Given the description of an element on the screen output the (x, y) to click on. 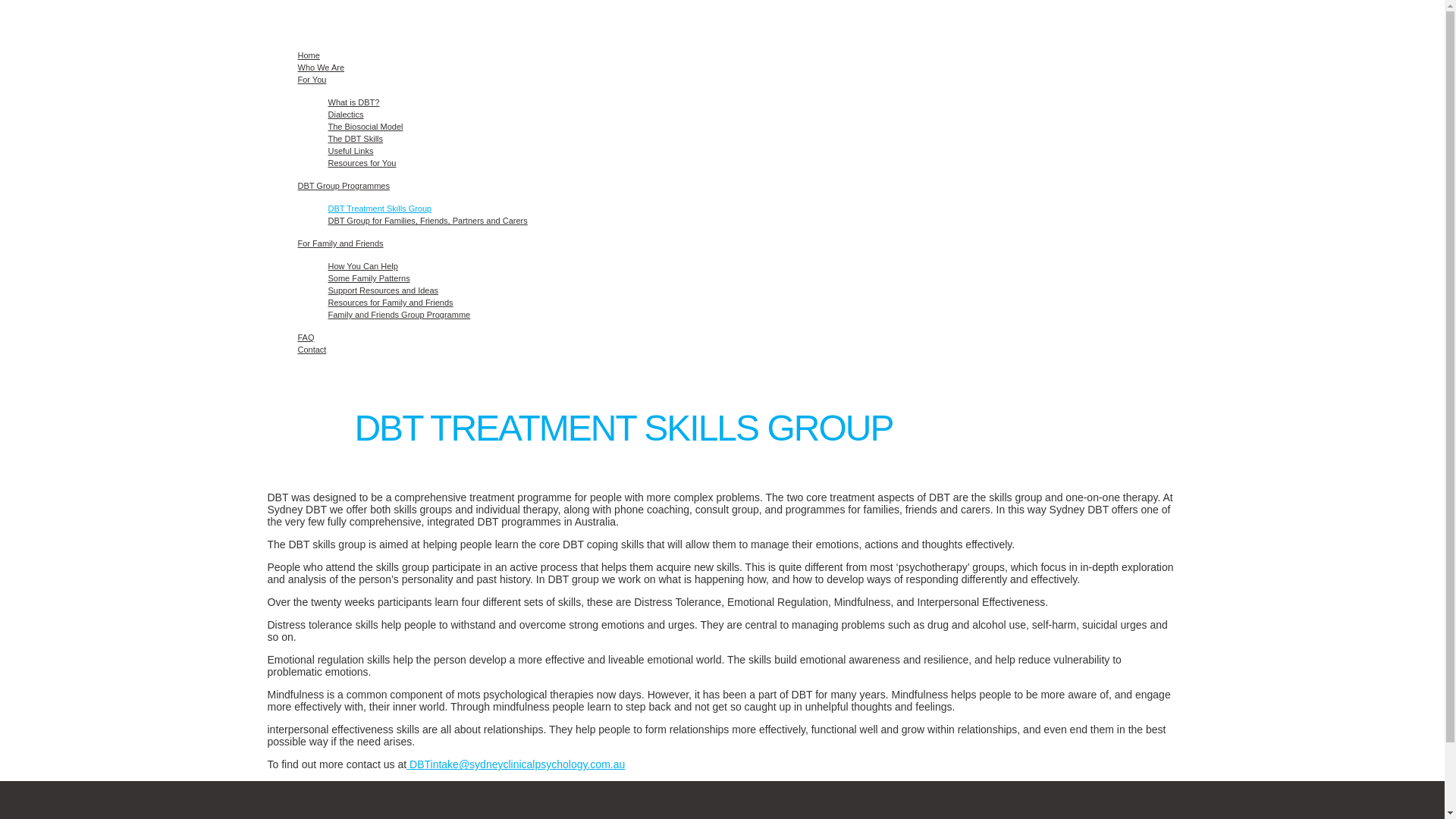
For Family and Friends Element type: text (339, 242)
Resources for You Element type: text (361, 162)
Who We Are Element type: text (320, 67)
The DBT Skills Element type: text (354, 138)
Dialectics Element type: text (345, 114)
DBT Group Programmes Element type: text (343, 185)
Resources for Family and Friends Element type: text (389, 302)
Family and Friends Group Programme Element type: text (398, 314)
Home Element type: text (308, 54)
For You Element type: text (311, 79)
Useful Links Element type: text (350, 150)
DBT Treatment Skills Group Element type: text (379, 208)
FAQ Element type: text (305, 337)
DBTintake@sydneyclinicalpsychology.com.au Element type: text (515, 764)
What is DBT? Element type: text (353, 101)
Contact Element type: text (311, 349)
Some Family Patterns Element type: text (368, 277)
Support Resources and Ideas Element type: text (382, 289)
DBT Group for Families, Friends, Partners and Carers Element type: text (427, 220)
How You Can Help Element type: text (362, 265)
The Biosocial Model Element type: text (364, 126)
